Given the description of an element on the screen output the (x, y) to click on. 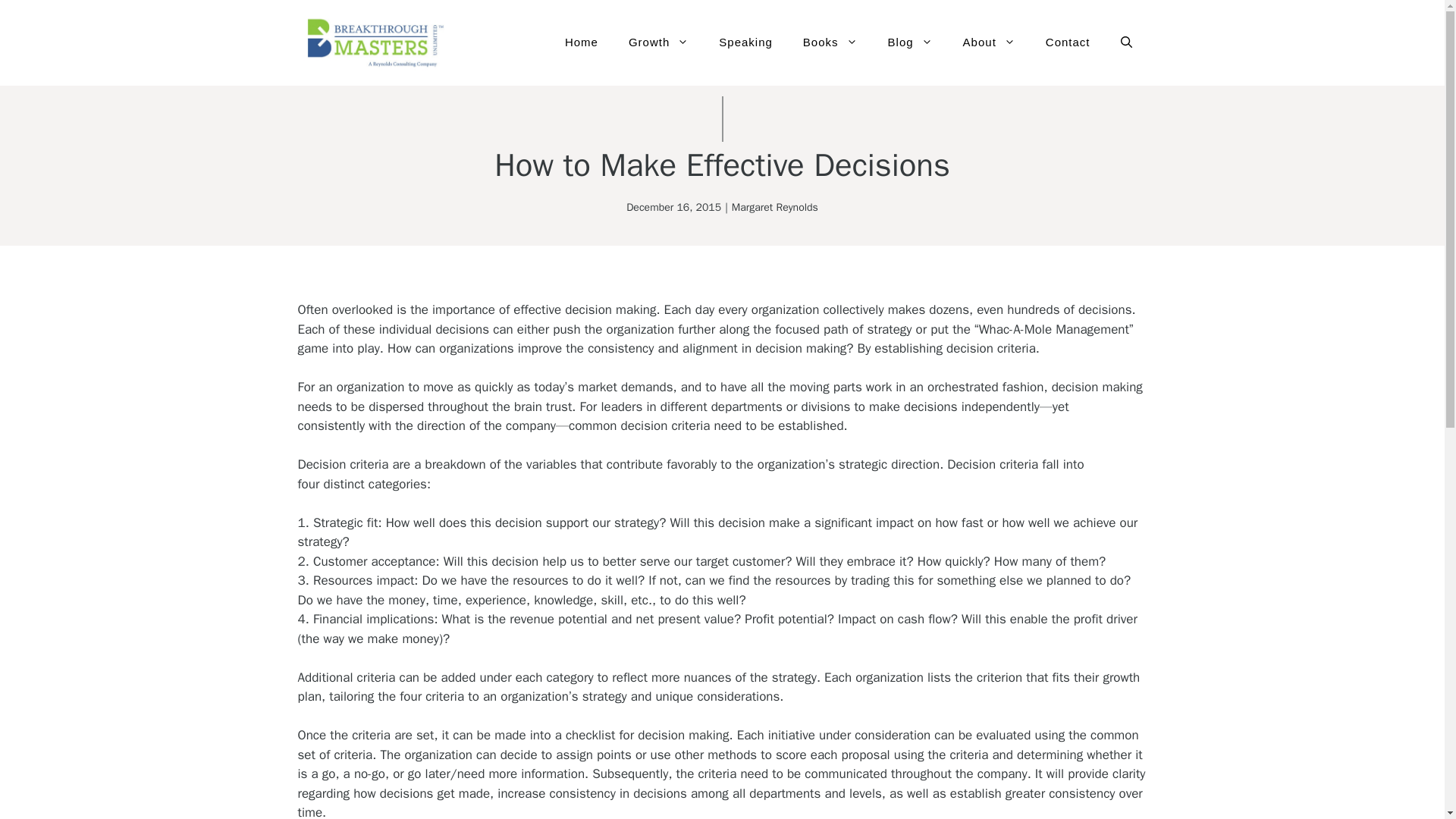
Books (829, 42)
About (988, 42)
Growth (657, 42)
Breakthrough Masters (372, 42)
Blog (909, 42)
Home (581, 42)
Margaret Reynolds (775, 206)
Breakthrough Masters (372, 41)
Contact (1067, 42)
Speaking (745, 42)
